Given the description of an element on the screen output the (x, y) to click on. 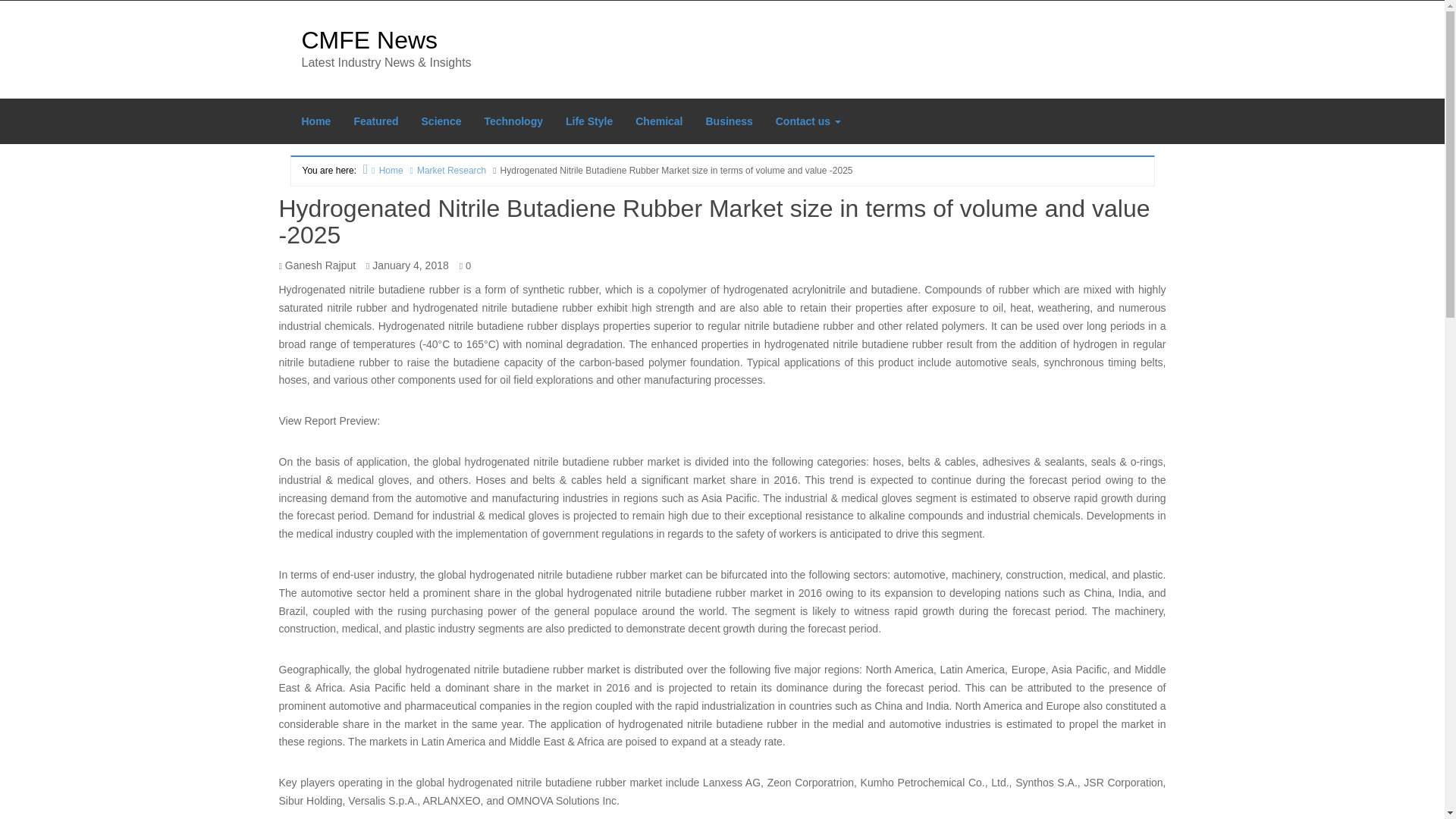
Featured (375, 121)
Contact us (807, 121)
Contact us (807, 121)
Thursday, January 4, 2018, 1:35 pm (410, 265)
Home (315, 121)
Technology (512, 121)
Featured (375, 121)
Market Research (446, 170)
Chemical (659, 121)
CMFE News (369, 40)
